Given the description of an element on the screen output the (x, y) to click on. 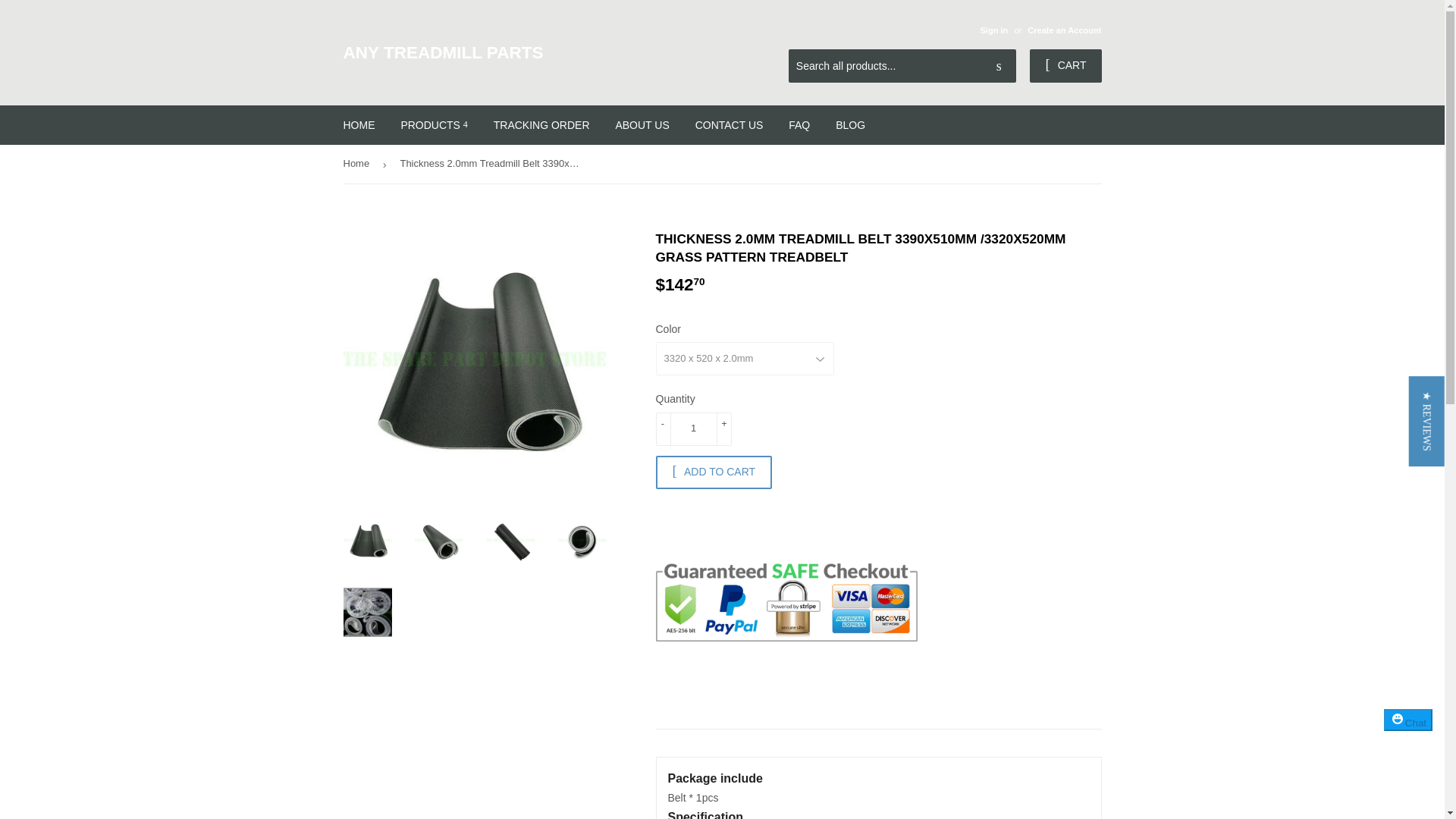
1 (692, 428)
Create an Account (1063, 30)
Sign in (993, 30)
TRACKING ORDER (541, 124)
PRODUCTS (433, 124)
Shopify online store chat (1408, 733)
HOME (359, 124)
CART (1064, 65)
Search (998, 66)
ANY TREADMILL PARTS (532, 52)
